Given the description of an element on the screen output the (x, y) to click on. 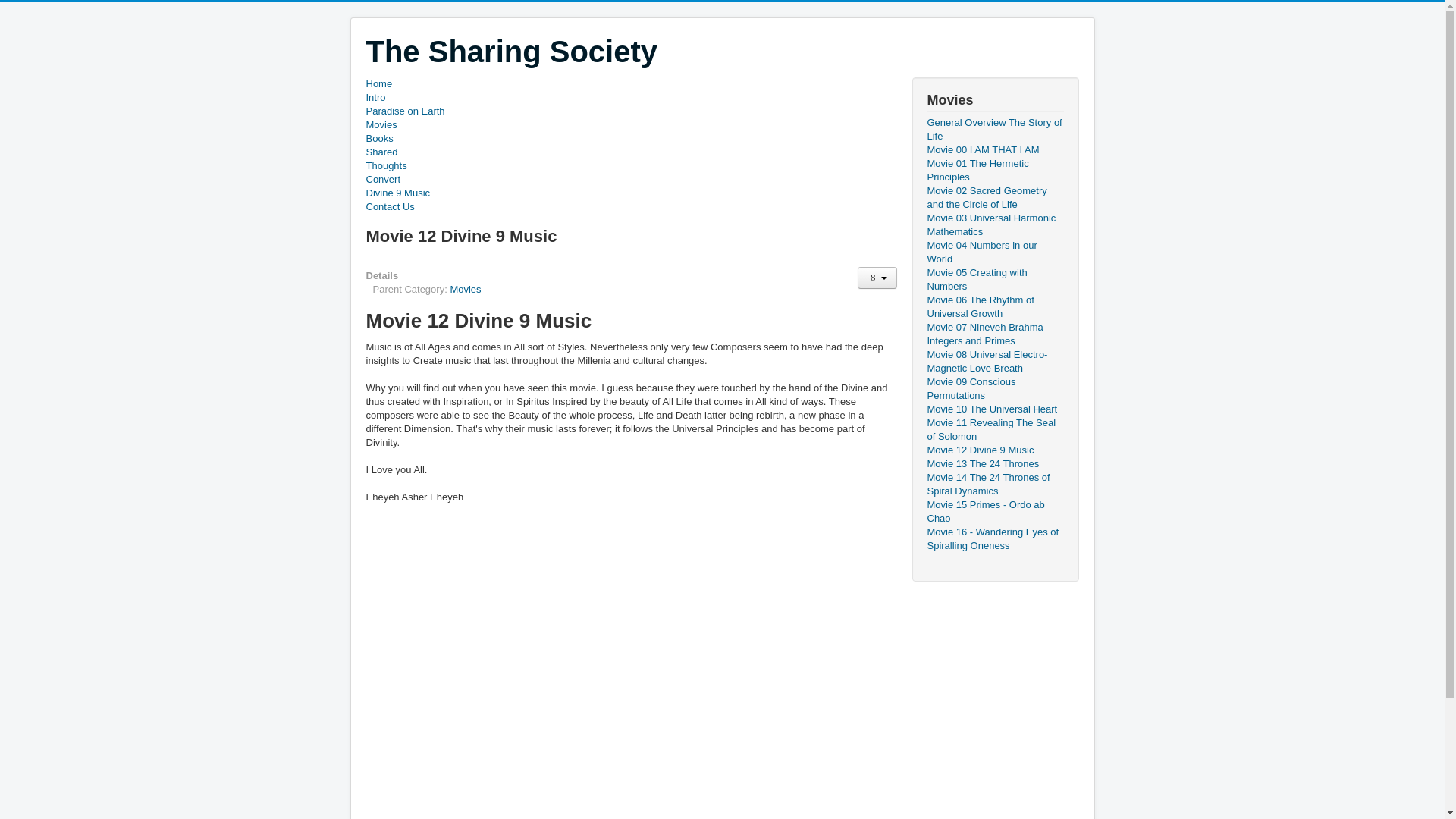
Movie 00 I AM THAT I AM (994, 150)
Contact Us (630, 206)
General Overview The Story of Life (994, 129)
Movie 02 Sacred Geometry and the Circle of Life (994, 197)
Shared (630, 151)
Movie 13 The 24 Thrones (994, 463)
The Sharing Society (511, 51)
Books (630, 138)
Divine 9 Music (630, 192)
Movie 10 The Universal Heart (994, 409)
Movie 06 The Rhythm of Universal Growth (994, 307)
Movie 12 Divine 9 Music (994, 450)
Movie 03 Universal Harmonic Mathematics (994, 225)
Thoughts (630, 165)
Movie 16 - Wandering Eyes of Spiralling Oneness (994, 538)
